Given the description of an element on the screen output the (x, y) to click on. 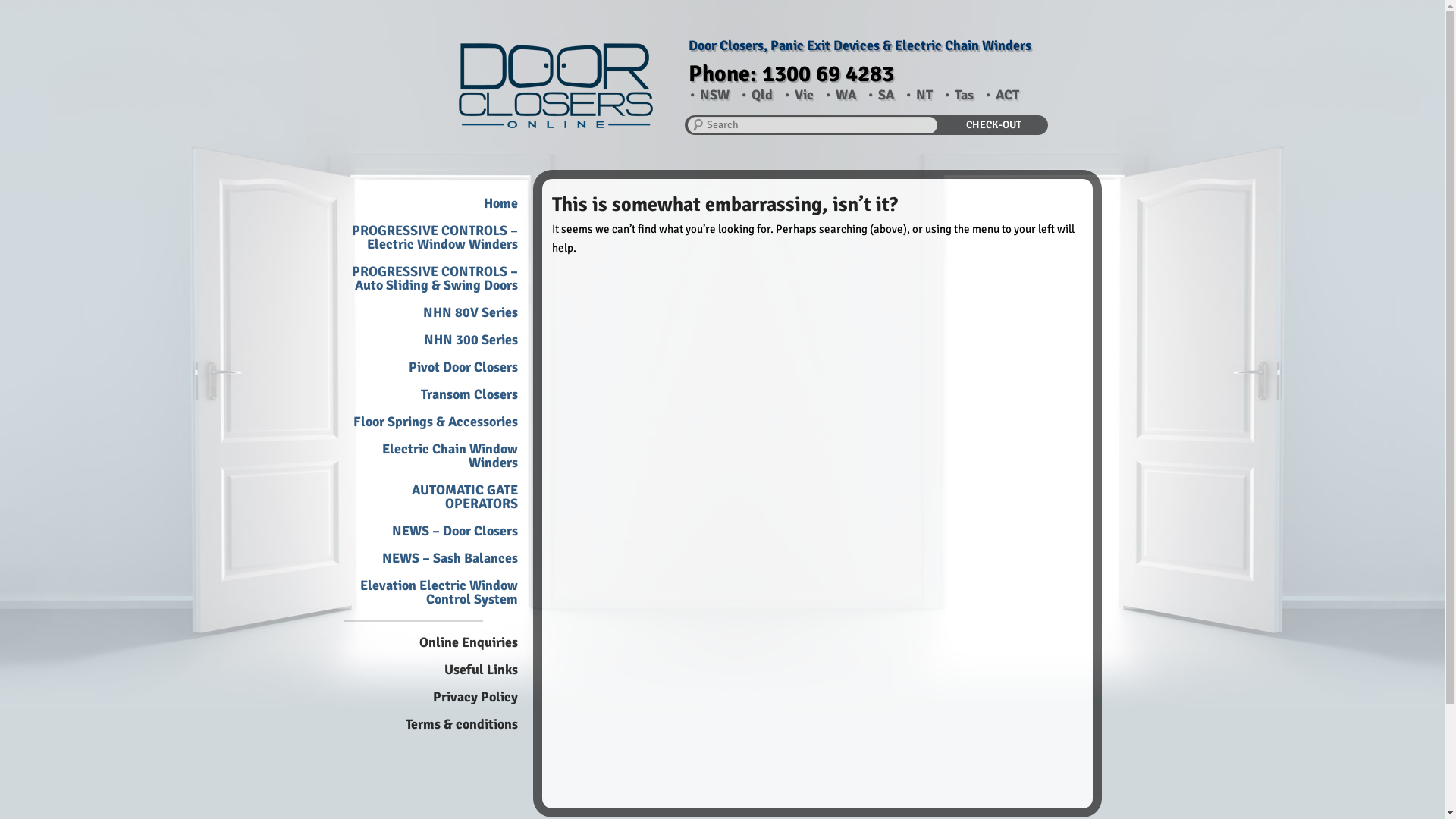
Floor Springs & Accessories Element type: text (435, 421)
Useful Links Element type: text (480, 669)
CHECK-OUT Element type: text (993, 124)
Privacy Policy Element type: text (474, 696)
Electric Chain Window Winders Element type: text (449, 455)
Terms & conditions Element type: text (460, 723)
AUTOMATIC GATE OPERATORS Element type: text (464, 496)
Search Element type: text (23, 9)
NHN 300 Series Element type: text (470, 339)
Home Element type: text (500, 202)
Online Enquiries Element type: text (467, 641)
Elevation Electric Window Control System Element type: text (438, 592)
Transom Closers Element type: text (468, 393)
Pivot Door Closers Element type: text (462, 366)
NHN 80V Series Element type: text (470, 312)
